Given the description of an element on the screen output the (x, y) to click on. 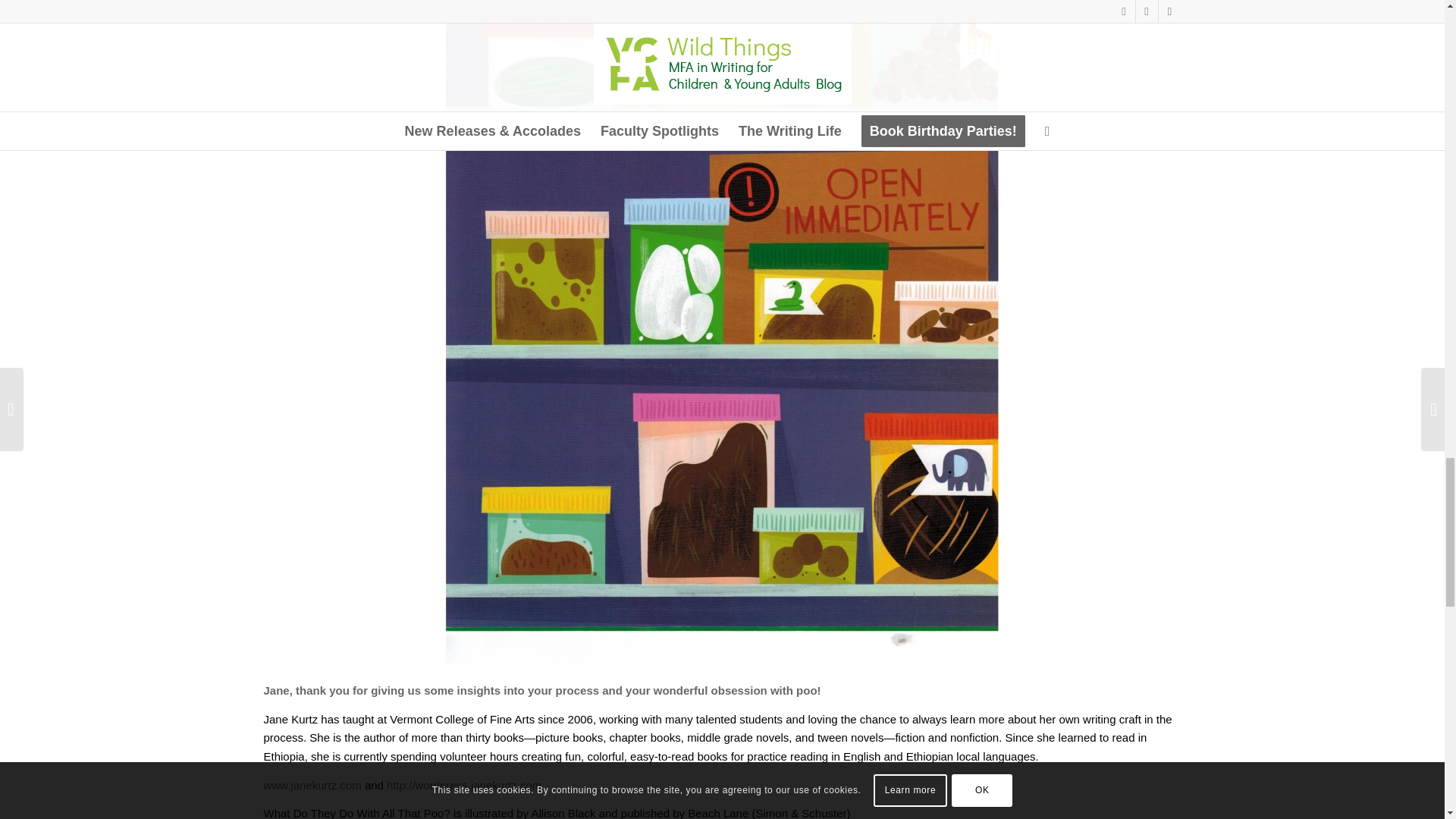
www.janekurtz.com (312, 784)
